Given the description of an element on the screen output the (x, y) to click on. 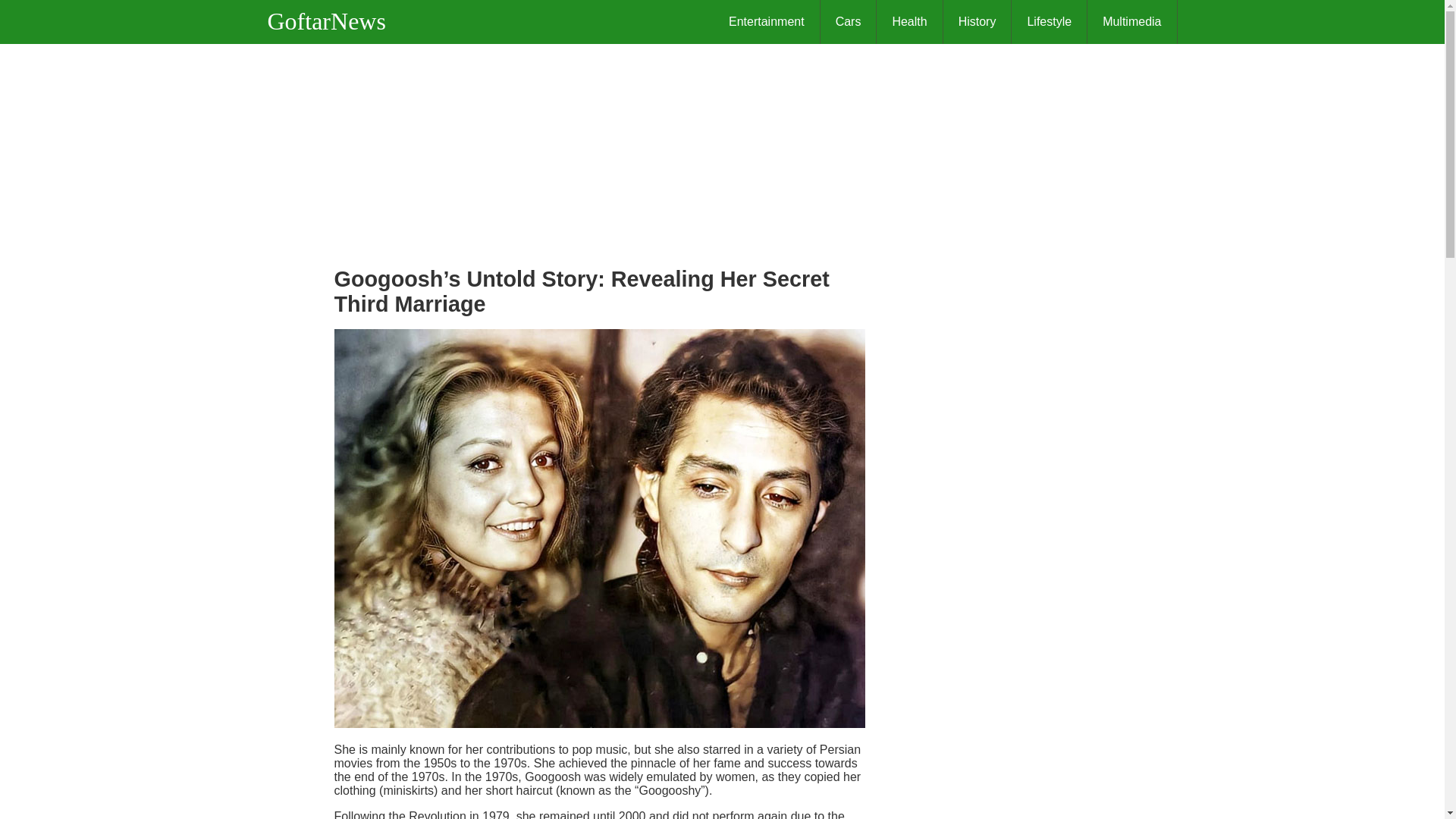
Lifestyle (1049, 22)
GoftarNews (333, 21)
Cars (849, 22)
History (977, 22)
Multimedia (1131, 22)
Entertainment (767, 22)
Health (909, 22)
Advertisement (598, 150)
